Given the description of an element on the screen output the (x, y) to click on. 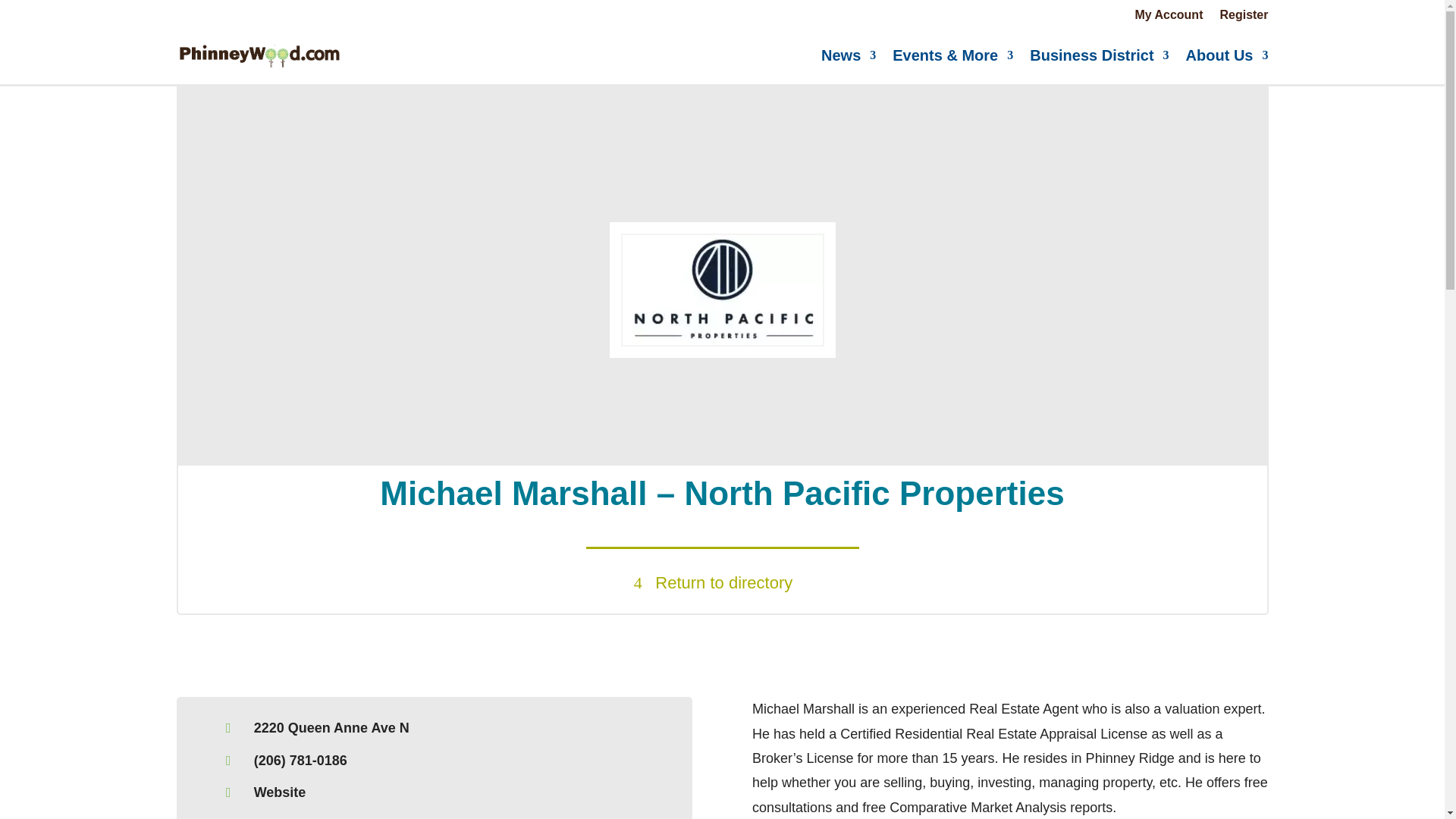
My Account (1168, 17)
News (848, 55)
Register (1244, 17)
